Given the description of an element on the screen output the (x, y) to click on. 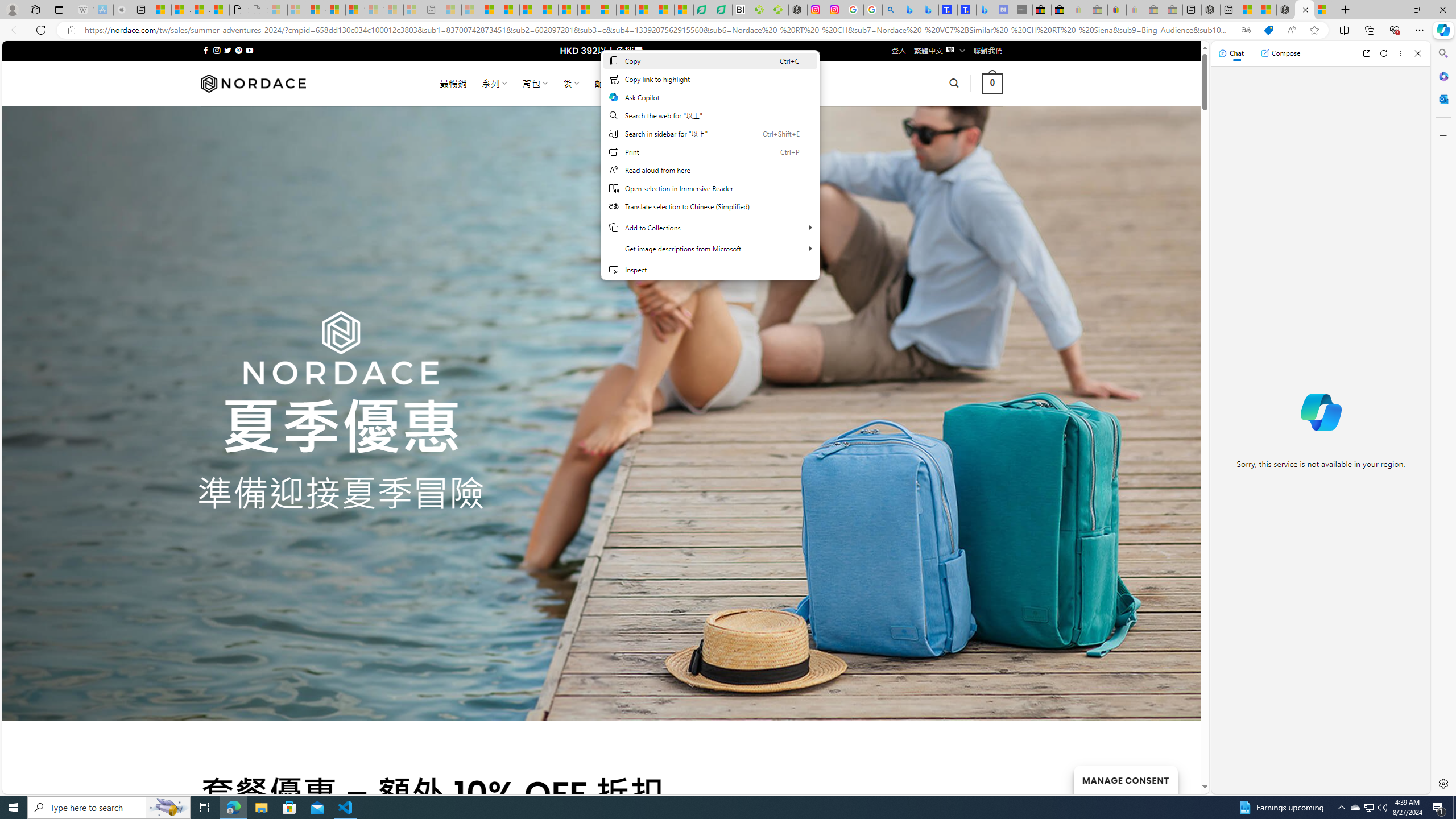
LendingTree - Compare Lenders (721, 9)
Follow on YouTube (249, 50)
 0  (992, 83)
Copy (710, 60)
Follow on Pinterest (237, 50)
  0   (992, 83)
Drinking tea every day is proven to delay biological aging (548, 9)
Nordace - Nordace Edin Collection (797, 9)
Follow on Instagram (216, 50)
